Given the description of an element on the screen output the (x, y) to click on. 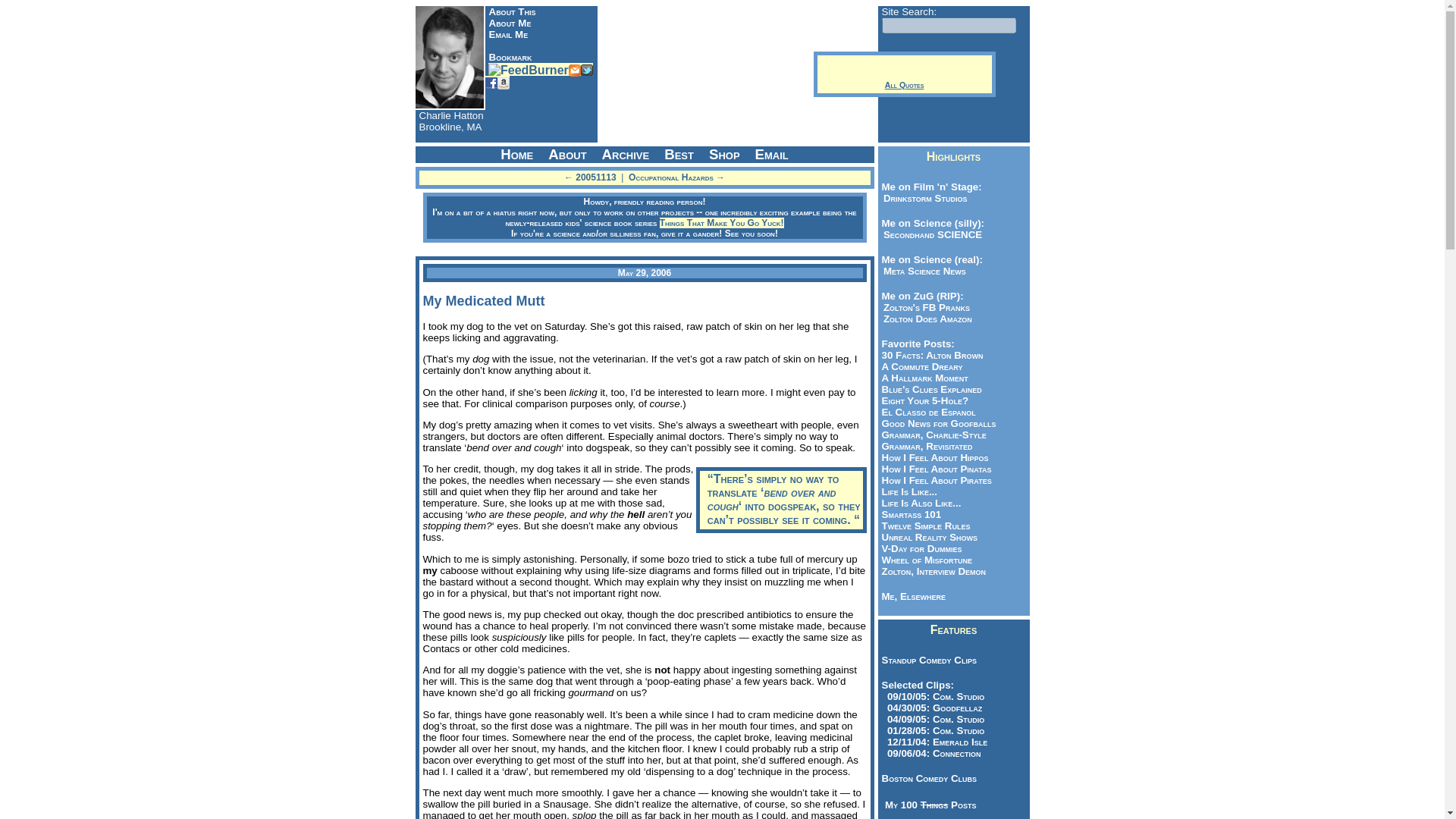
Email Me (507, 34)
About (567, 154)
Kindle (503, 82)
About This (511, 11)
Shop (724, 154)
Home (516, 154)
Things That Make You Go Yuck! (721, 222)
All Quotes (904, 84)
My Medicated Mutt (483, 300)
Best (678, 154)
Email (574, 69)
Facebook (490, 82)
Bookmark (509, 57)
Follow (586, 69)
Archive (626, 154)
